Given the description of an element on the screen output the (x, y) to click on. 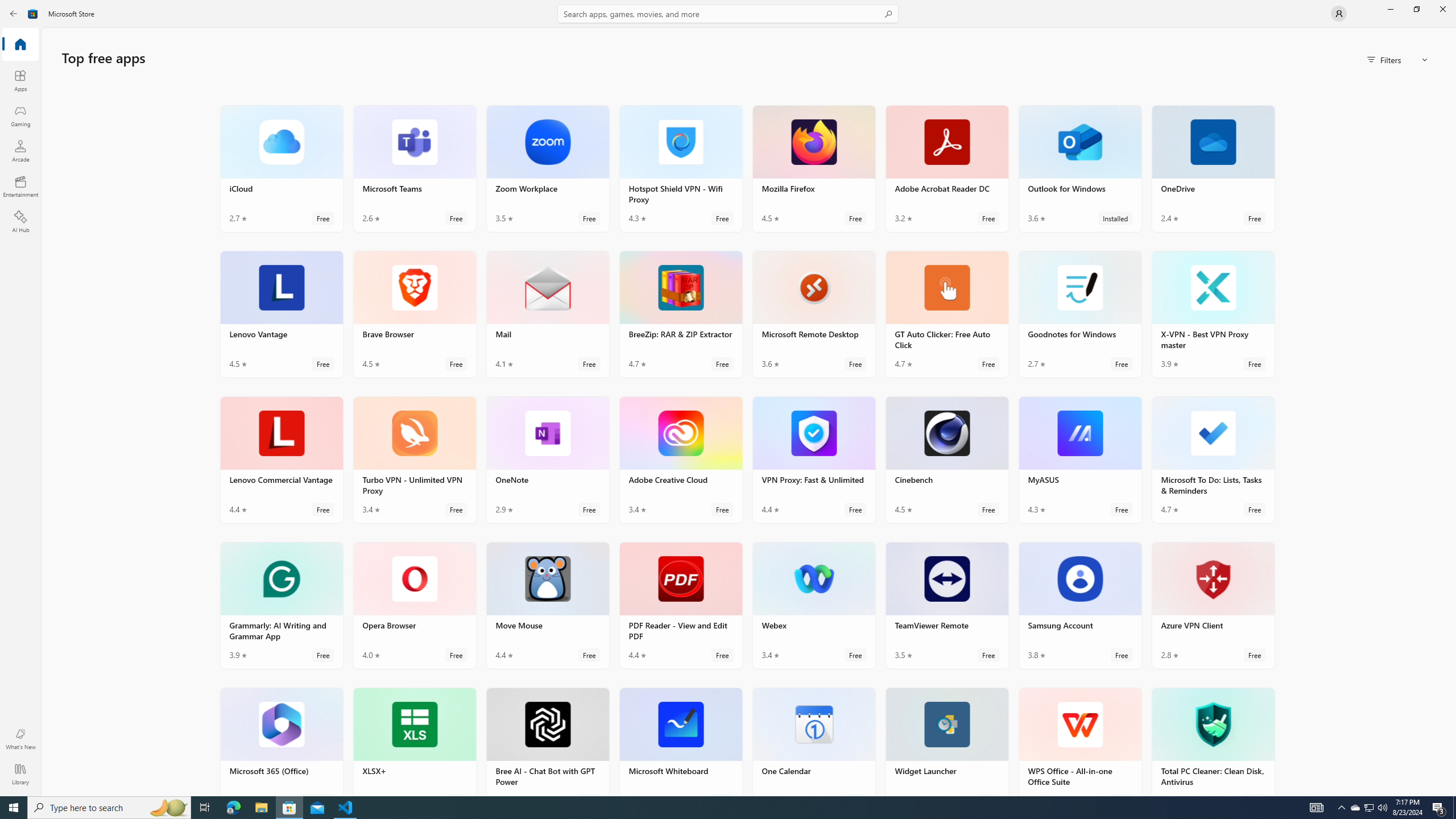
Minimize Microsoft Store (1390, 9)
Search (727, 13)
AutomationID: NavigationControl (728, 398)
OneDrive. Average rating of 2.4 out of five stars. Free   (1213, 167)
Home (20, 45)
